Given the description of an element on the screen output the (x, y) to click on. 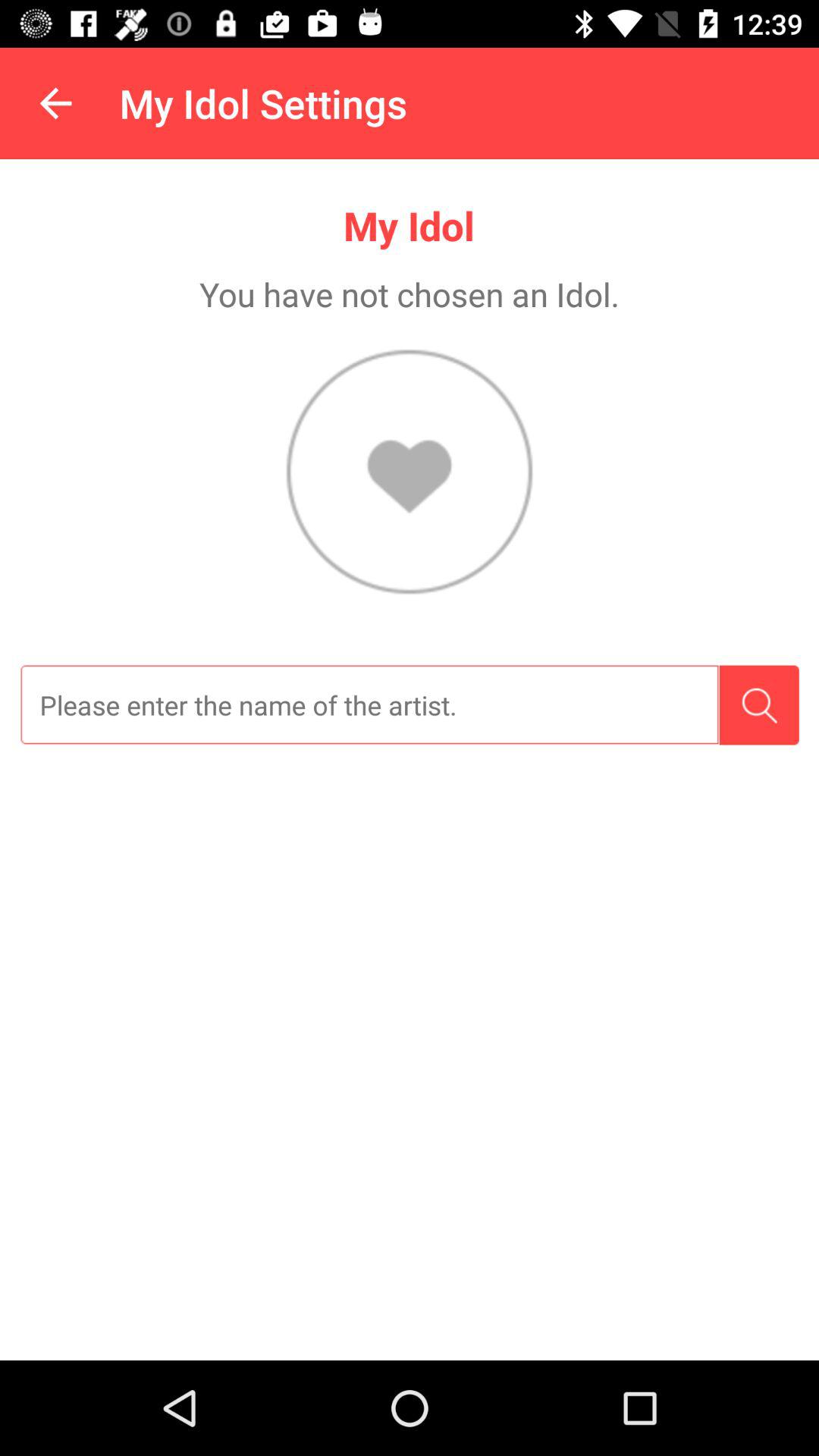
search for the name of the artist (369, 705)
